Given the description of an element on the screen output the (x, y) to click on. 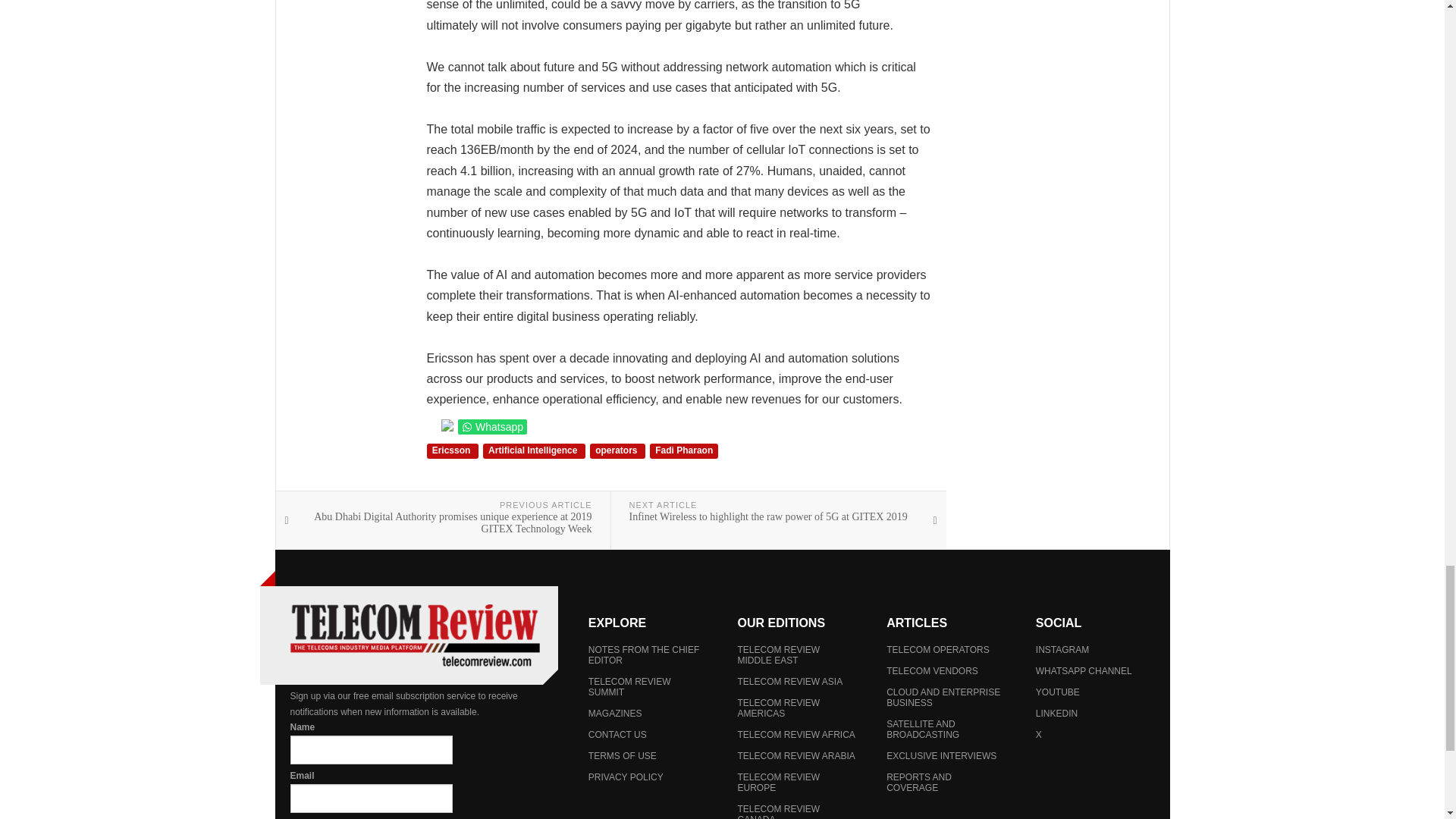
Telecom Review (413, 635)
